Given the description of an element on the screen output the (x, y) to click on. 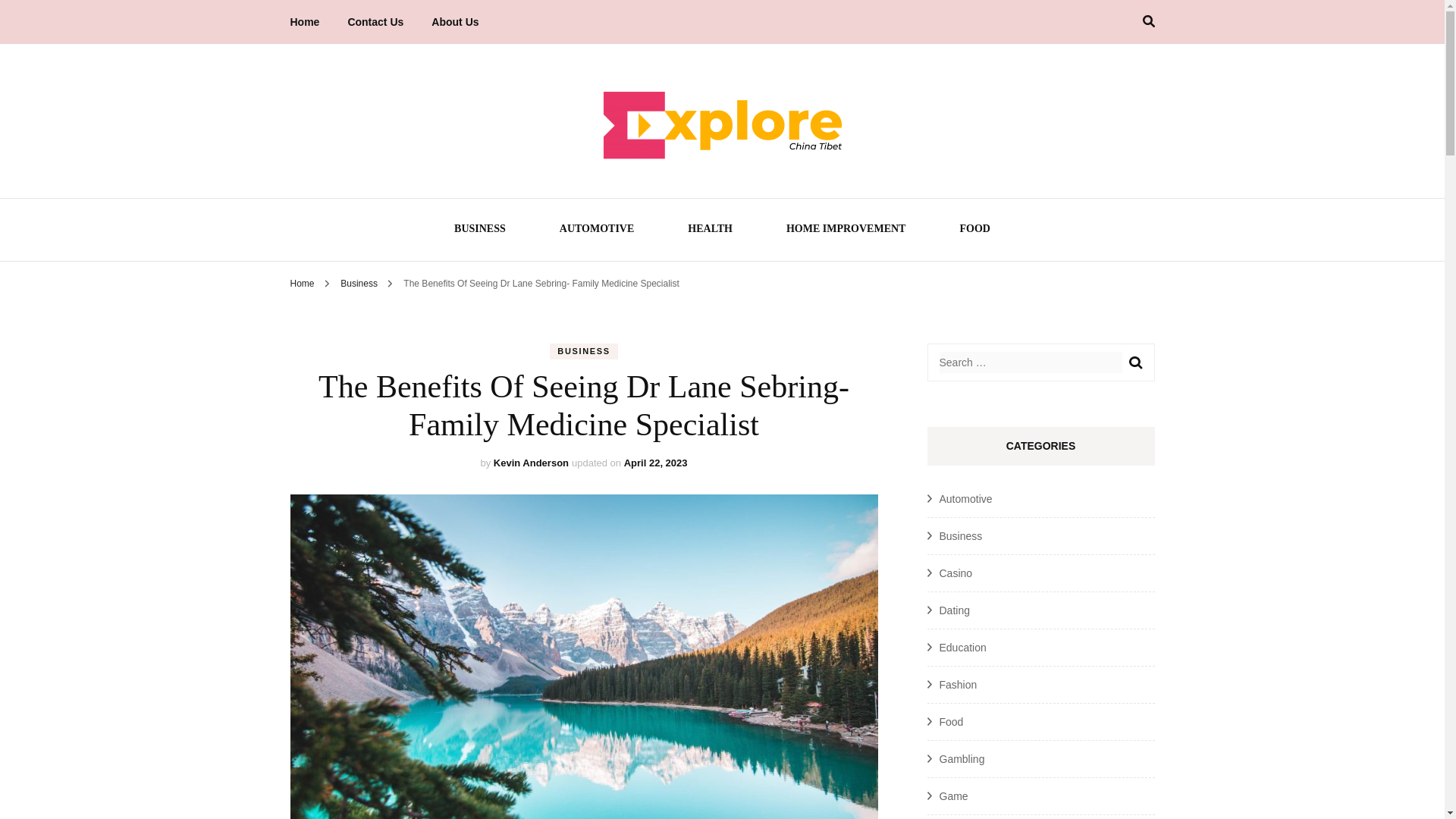
Home (301, 283)
About Us (454, 21)
Search (1134, 362)
Business (360, 283)
HOME IMPROVEMENT (845, 230)
April 22, 2023 (655, 462)
Explore China Tibet (658, 227)
Home (303, 21)
BUSINESS (479, 230)
AUTOMOTIVE (596, 230)
HEALTH (709, 230)
Search (1134, 362)
FOOD (974, 230)
BUSINESS (583, 351)
